Given the description of an element on the screen output the (x, y) to click on. 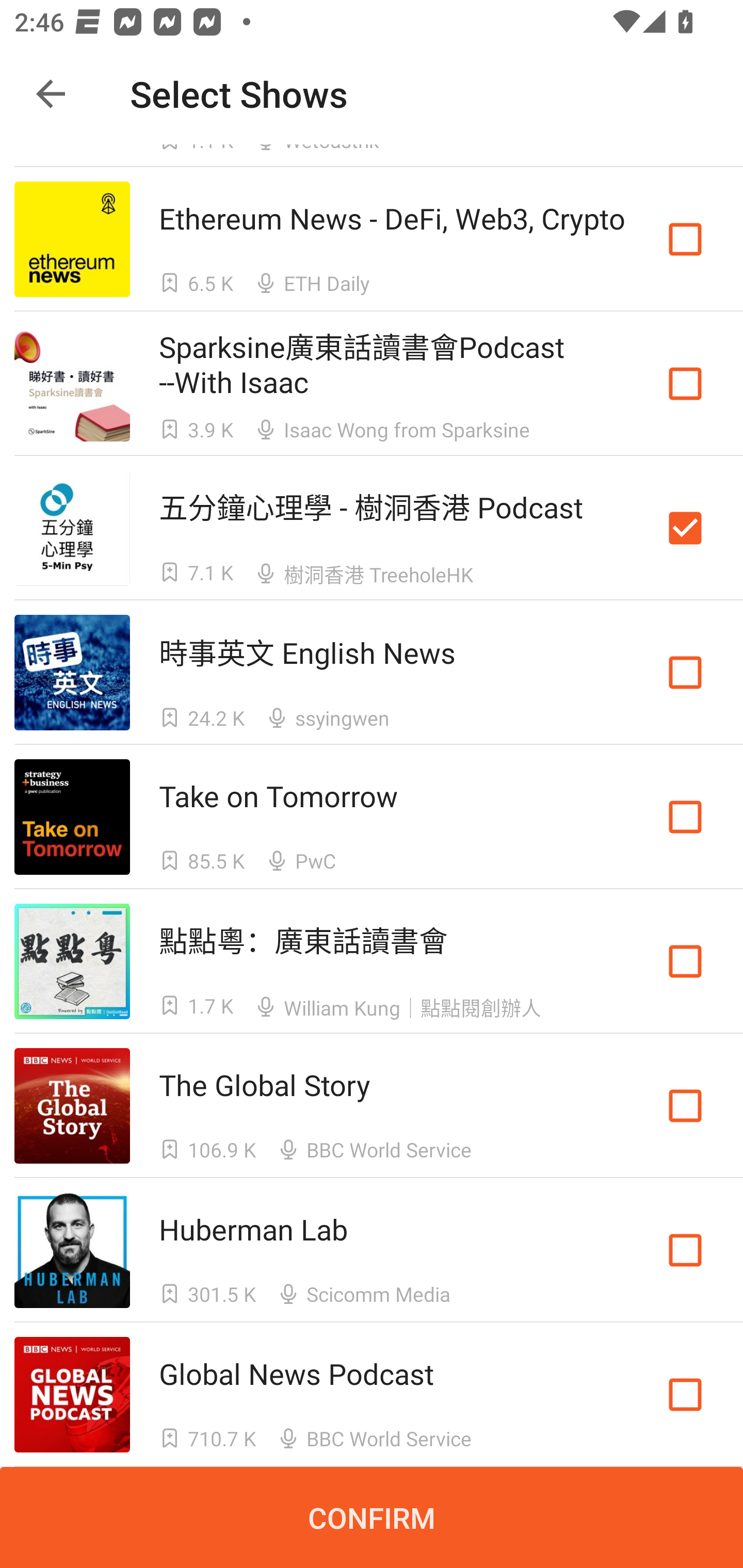
Navigate up (50, 93)
Take on Tomorrow Take on Tomorrow  85.5 K  PwC (371, 816)
CONFIRM (371, 1517)
